Given the description of an element on the screen output the (x, y) to click on. 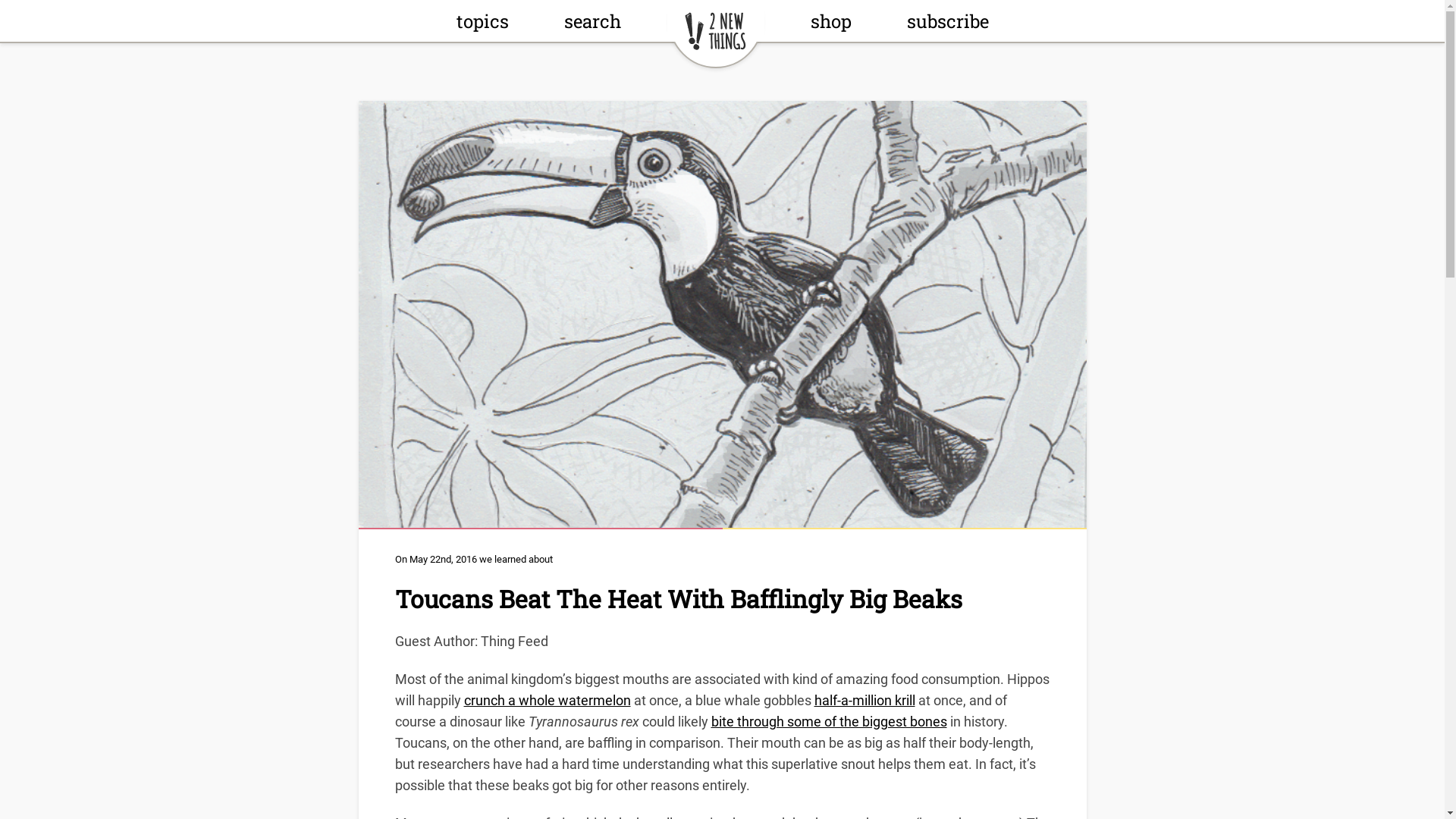
topics Element type: text (482, 24)
shop Element type: text (830, 24)
half-a-million krill Element type: text (864, 700)
subscribe Element type: text (947, 24)
bite through some of the biggest bones Element type: text (829, 721)
search Element type: text (592, 24)
crunch a whole watermelon Element type: text (547, 700)
